Given the description of an element on the screen output the (x, y) to click on. 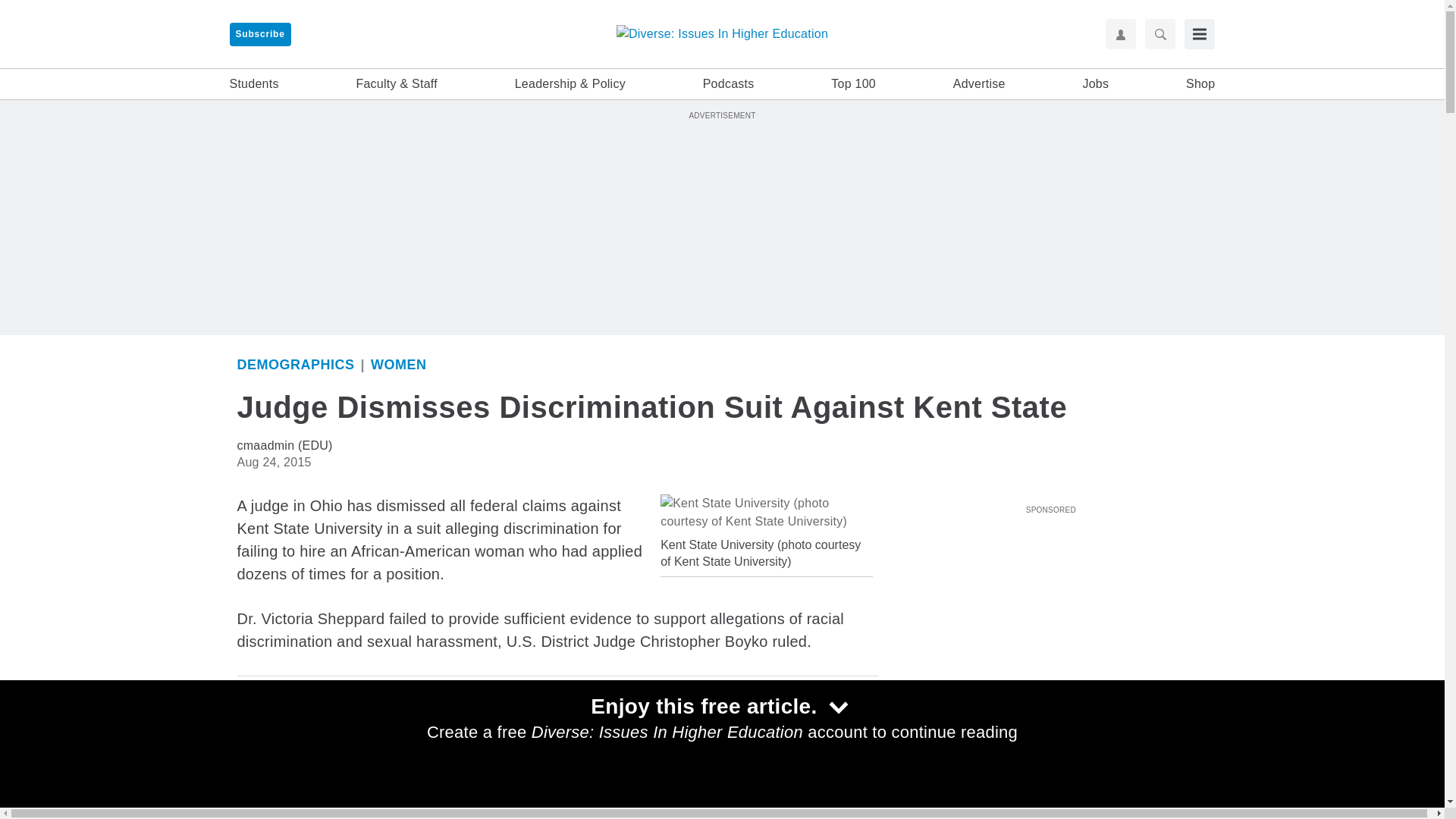
Women (398, 364)
Subscribe (258, 33)
Shop (1200, 84)
Demographics (294, 364)
Podcasts (728, 84)
Jobs (1094, 84)
Subscribe (258, 33)
Youtube Player (1050, 604)
Advertise (979, 84)
Students (253, 84)
